Given the description of an element on the screen output the (x, y) to click on. 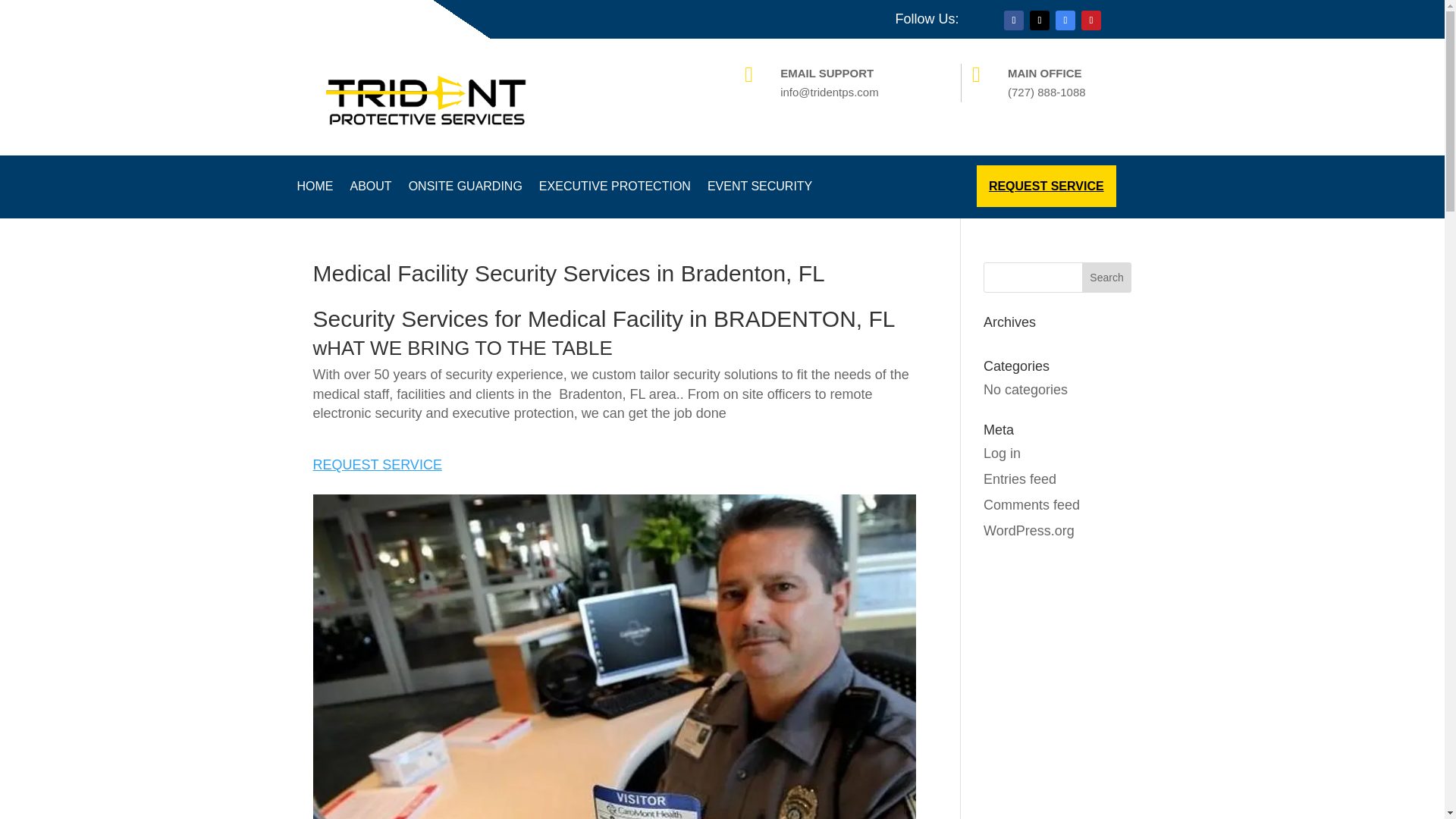
HOME (315, 189)
Log in (1002, 453)
Follow on X (1039, 20)
ABOUT (370, 189)
Follow on Google (1065, 20)
Search (1106, 277)
REQUEST SERVICE (1046, 186)
Follow on Pinterest (1090, 20)
EVENT SECURITY (759, 189)
logo (426, 97)
WordPress.org (1029, 530)
REQUEST SERVICE (377, 474)
EXECUTIVE PROTECTION (614, 189)
ONSITE GUARDING (465, 189)
Entries feed (1020, 478)
